Given the description of an element on the screen output the (x, y) to click on. 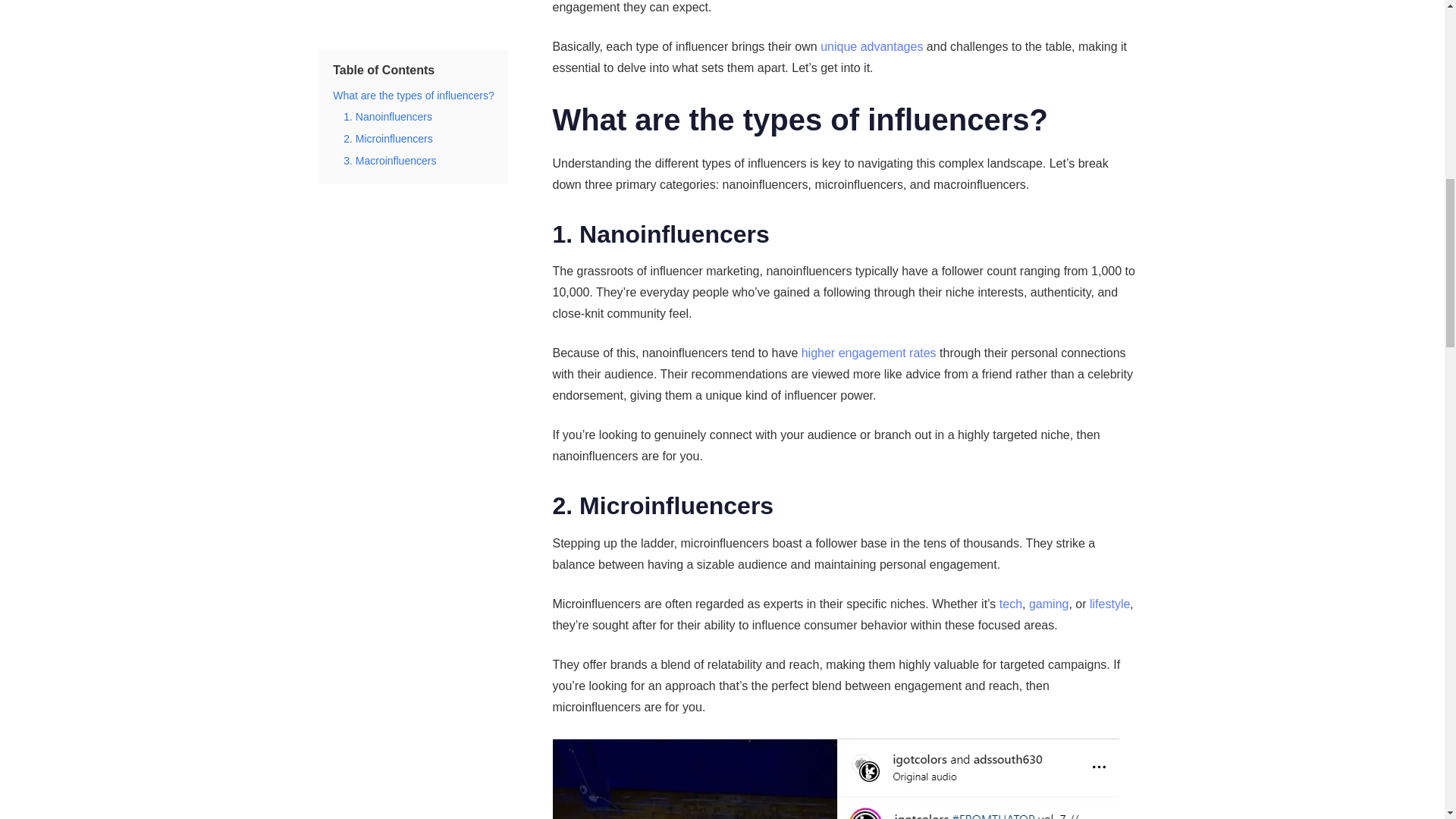
lifestyle (1109, 603)
gaming (1048, 603)
higher engagement rates (869, 352)
unique advantages (872, 46)
tech (1010, 603)
